Given the description of an element on the screen output the (x, y) to click on. 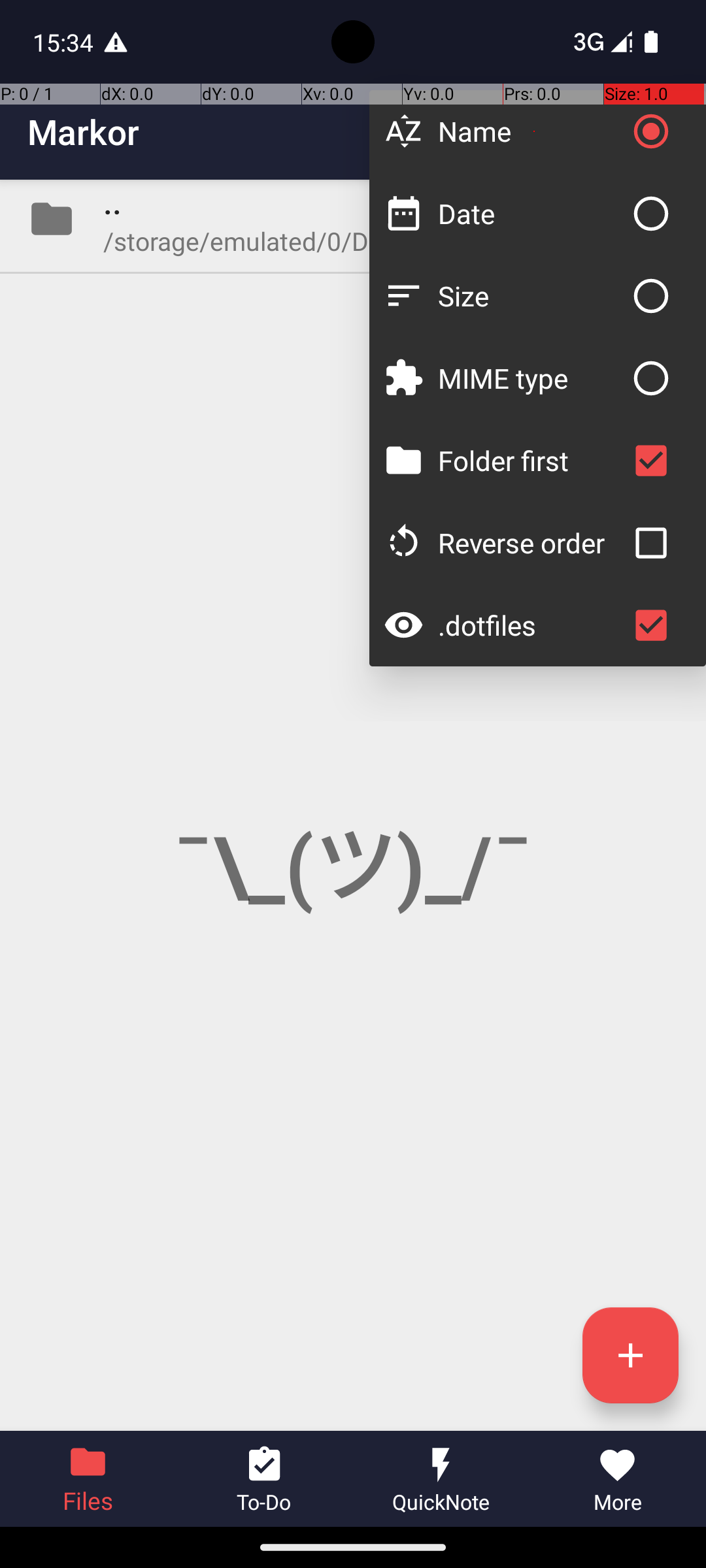
Size Element type: android.widget.TextView (530, 295)
MIME type Element type: android.widget.TextView (530, 377)
Folder first Element type: android.widget.TextView (530, 459)
Reverse order Element type: android.widget.TextView (530, 542)
.dotfiles Element type: android.widget.TextView (530, 624)
